Given the description of an element on the screen output the (x, y) to click on. 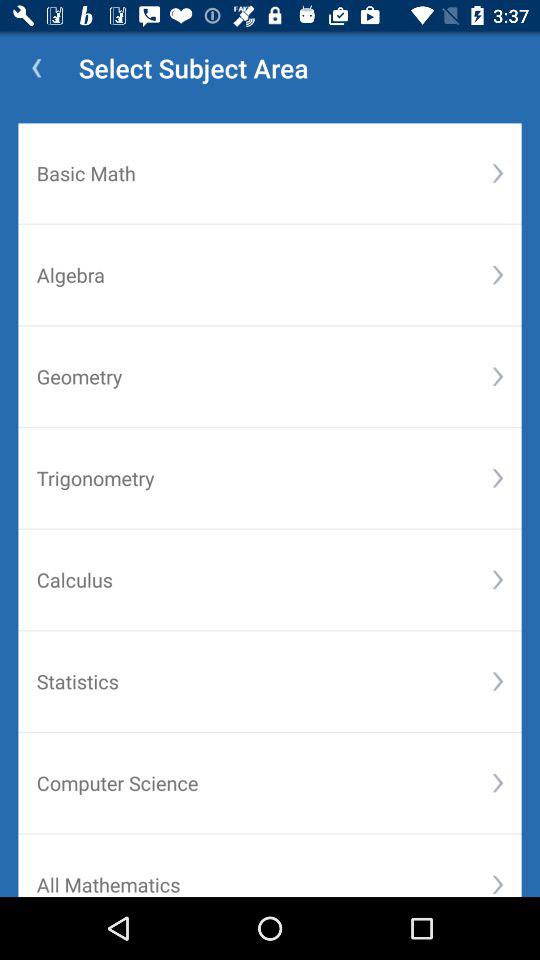
press the icon to the right of all mathematics icon (497, 884)
